Given the description of an element on the screen output the (x, y) to click on. 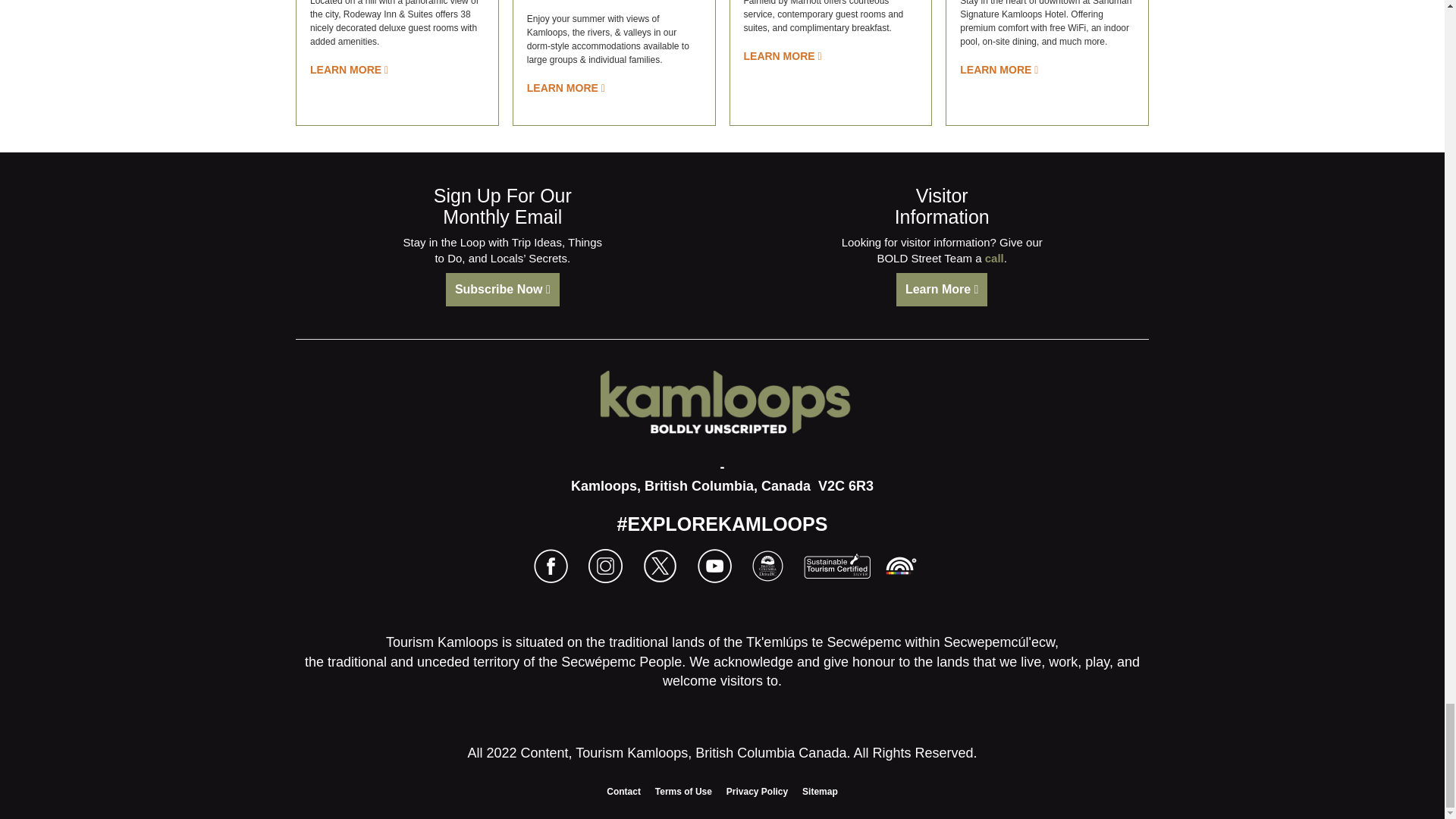
Sitemap (820, 791)
Contact (623, 791)
Privacy Policy (756, 791)
Terms of Use (683, 791)
